Given the description of an element on the screen output the (x, y) to click on. 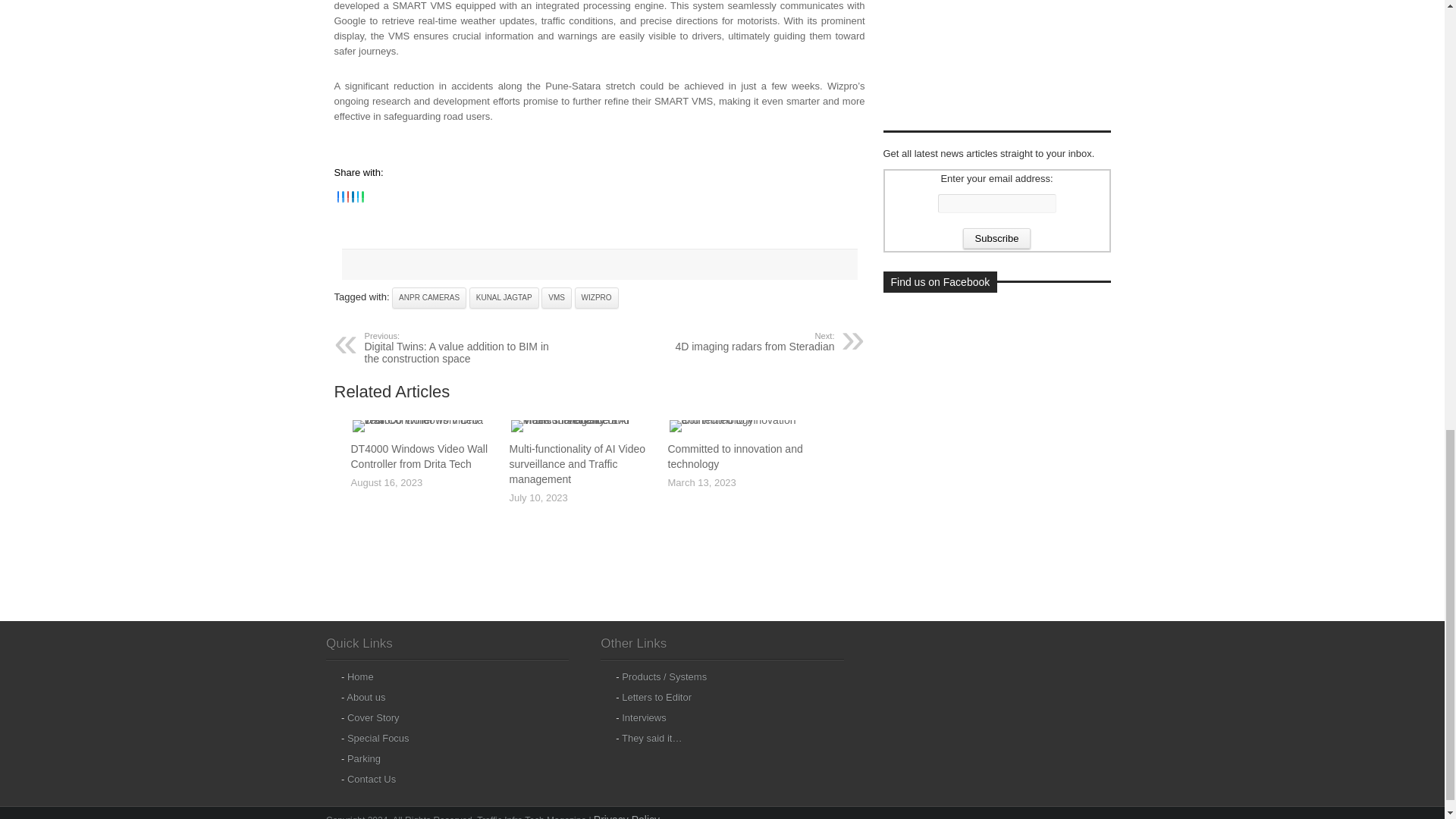
Permalink to Committed to innovation and technology (740, 425)
Subscribe (996, 238)
